Given the description of an element on the screen output the (x, y) to click on. 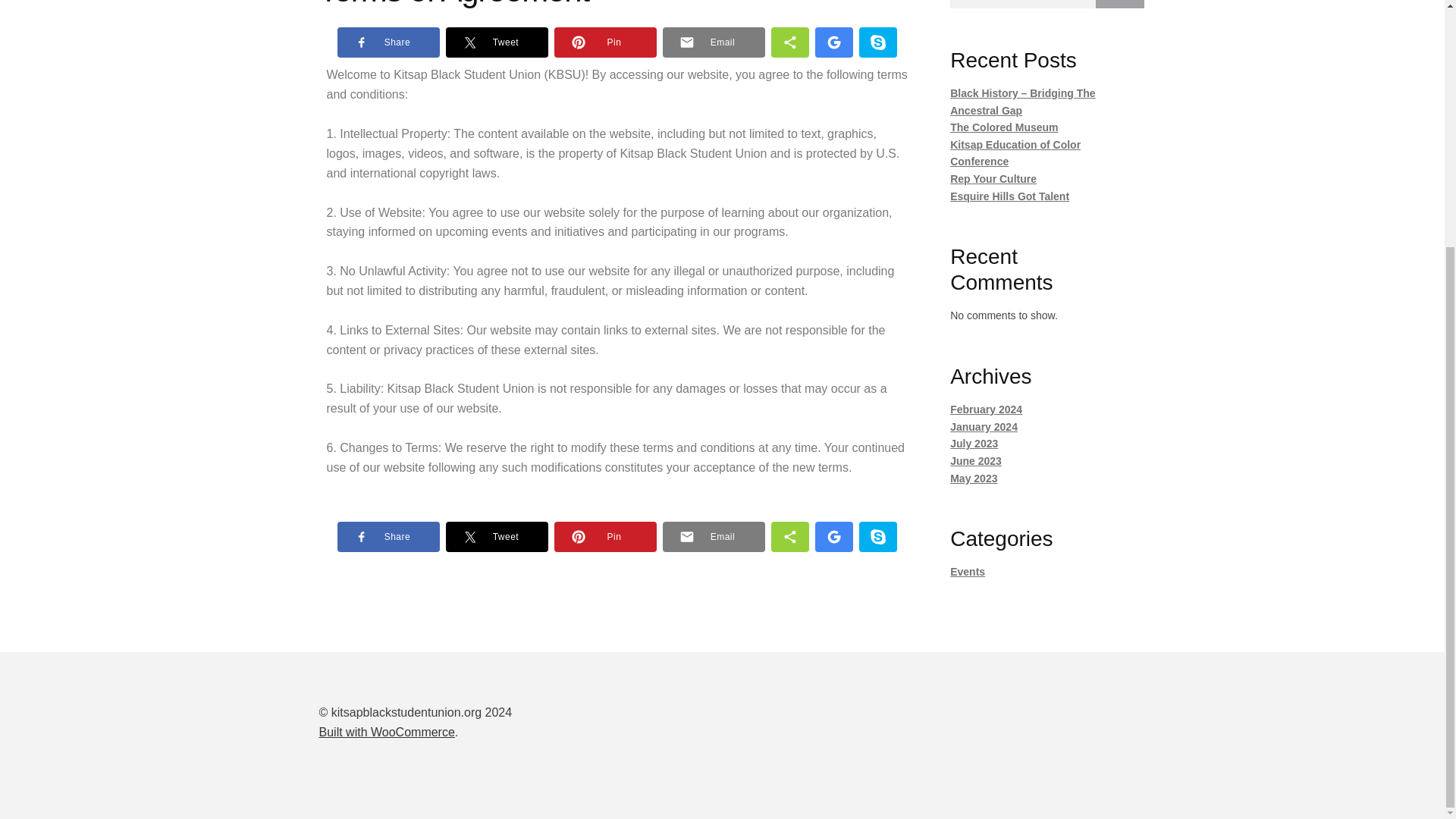
February 2024 (986, 409)
Rep Your Culture (993, 178)
Esquire Hills Got Talent (1009, 196)
July 2023 (973, 443)
Built with WooCommerce (386, 731)
June 2023 (975, 460)
January 2024 (983, 426)
Events (967, 571)
Kitsap Education of Color Conference (1015, 153)
May 2023 (973, 478)
